Given the description of an element on the screen output the (x, y) to click on. 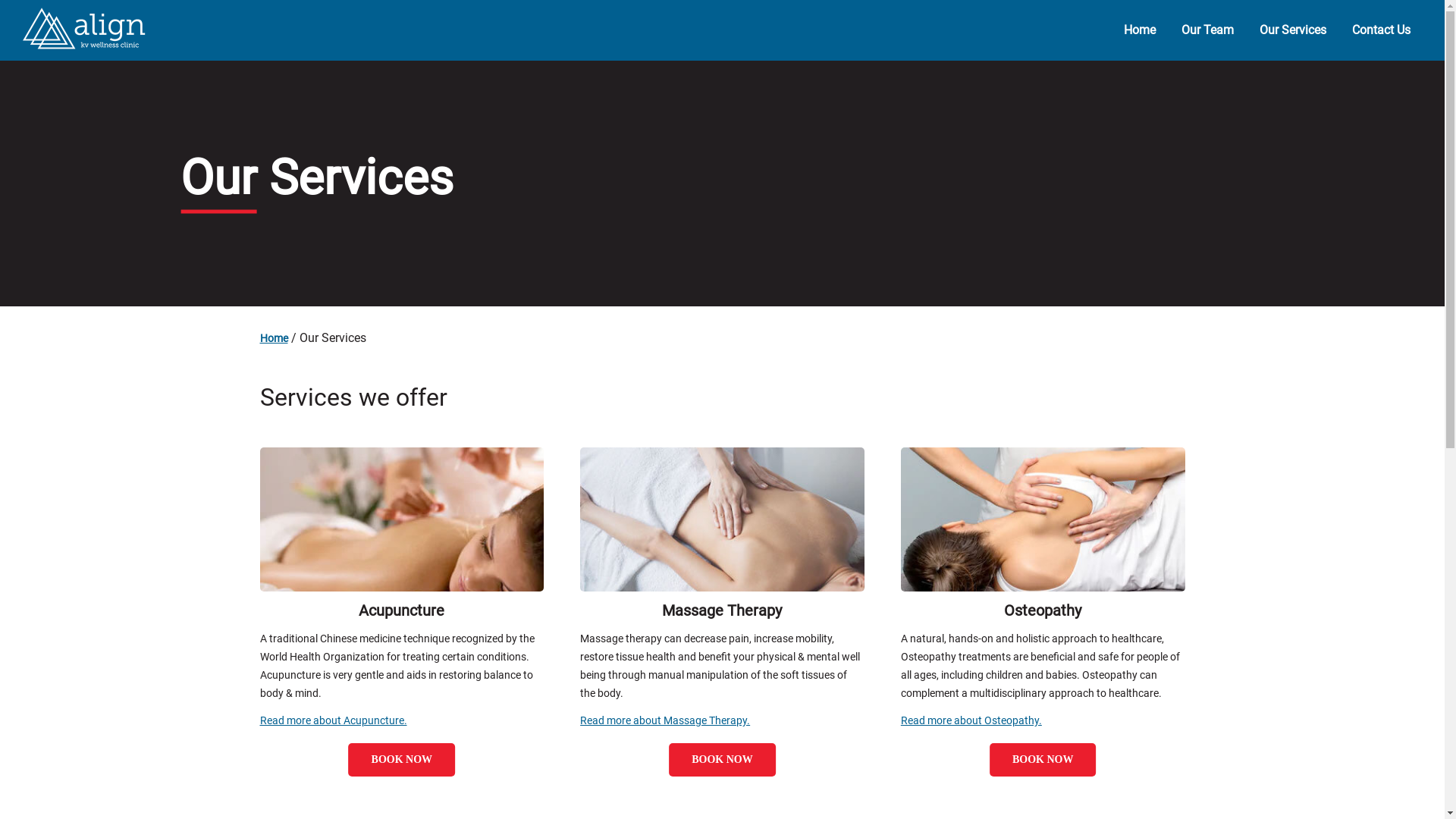
BOOK NOW Element type: text (721, 758)
Contact Us Element type: text (1381, 30)
BOOK NOW Element type: text (1042, 758)
Read more about Osteopathy. Element type: text (970, 720)
Home Element type: text (273, 338)
BOOK NOW Element type: text (401, 758)
BOOK NOW Element type: text (401, 759)
Read more about Massage Therapy. Element type: text (664, 720)
Our Services Element type: text (1292, 30)
Home Element type: text (1139, 30)
BOOK NOW Element type: text (1042, 759)
Our Team Element type: text (1207, 30)
BOOK NOW Element type: text (721, 759)
Read more about Acupuncture. Element type: text (332, 720)
